Given the description of an element on the screen output the (x, y) to click on. 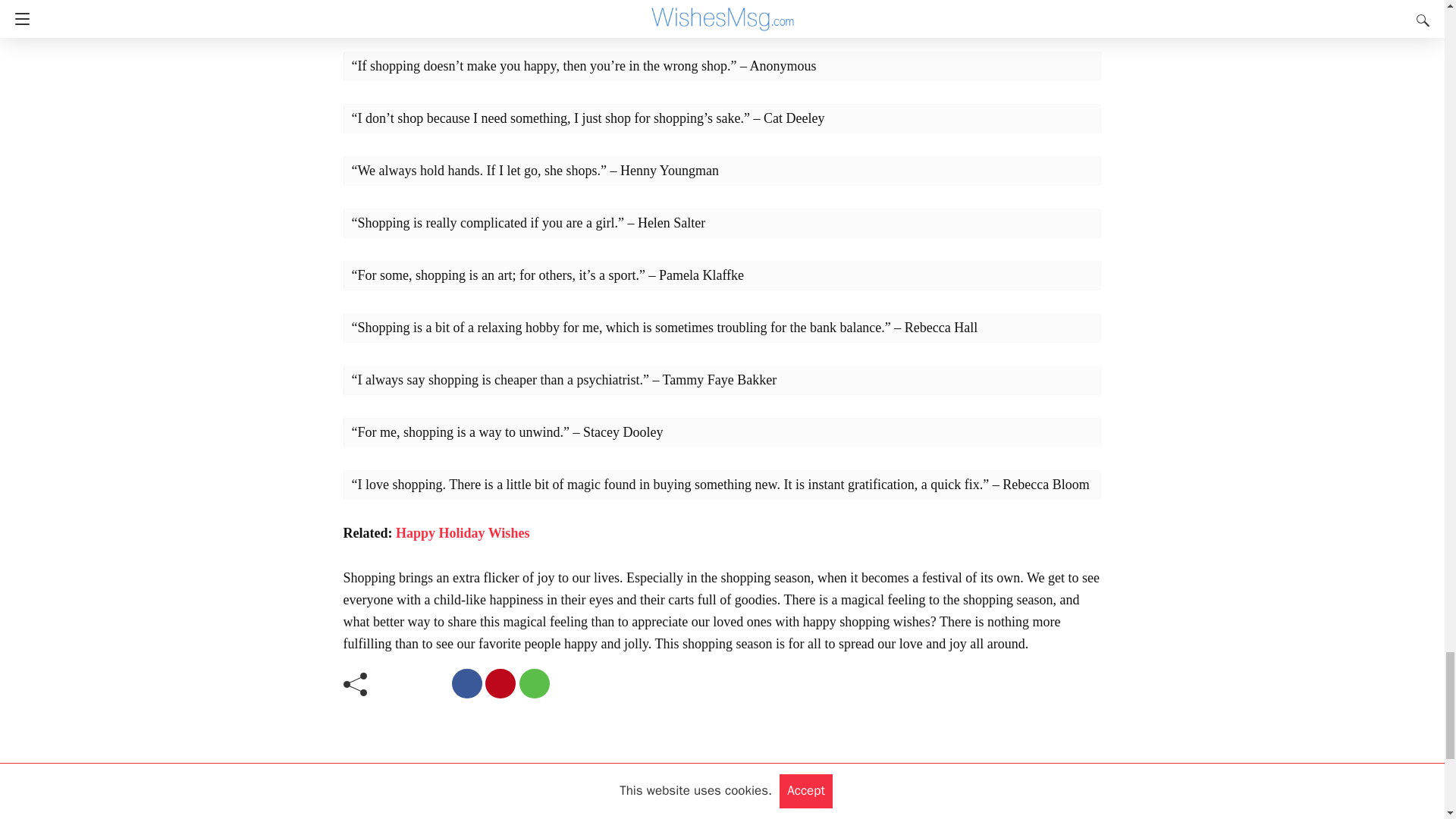
facebook share (466, 683)
pinterest share (499, 683)
Happy Holiday Wishes (462, 532)
whatsapp share (533, 683)
